Given the description of an element on the screen output the (x, y) to click on. 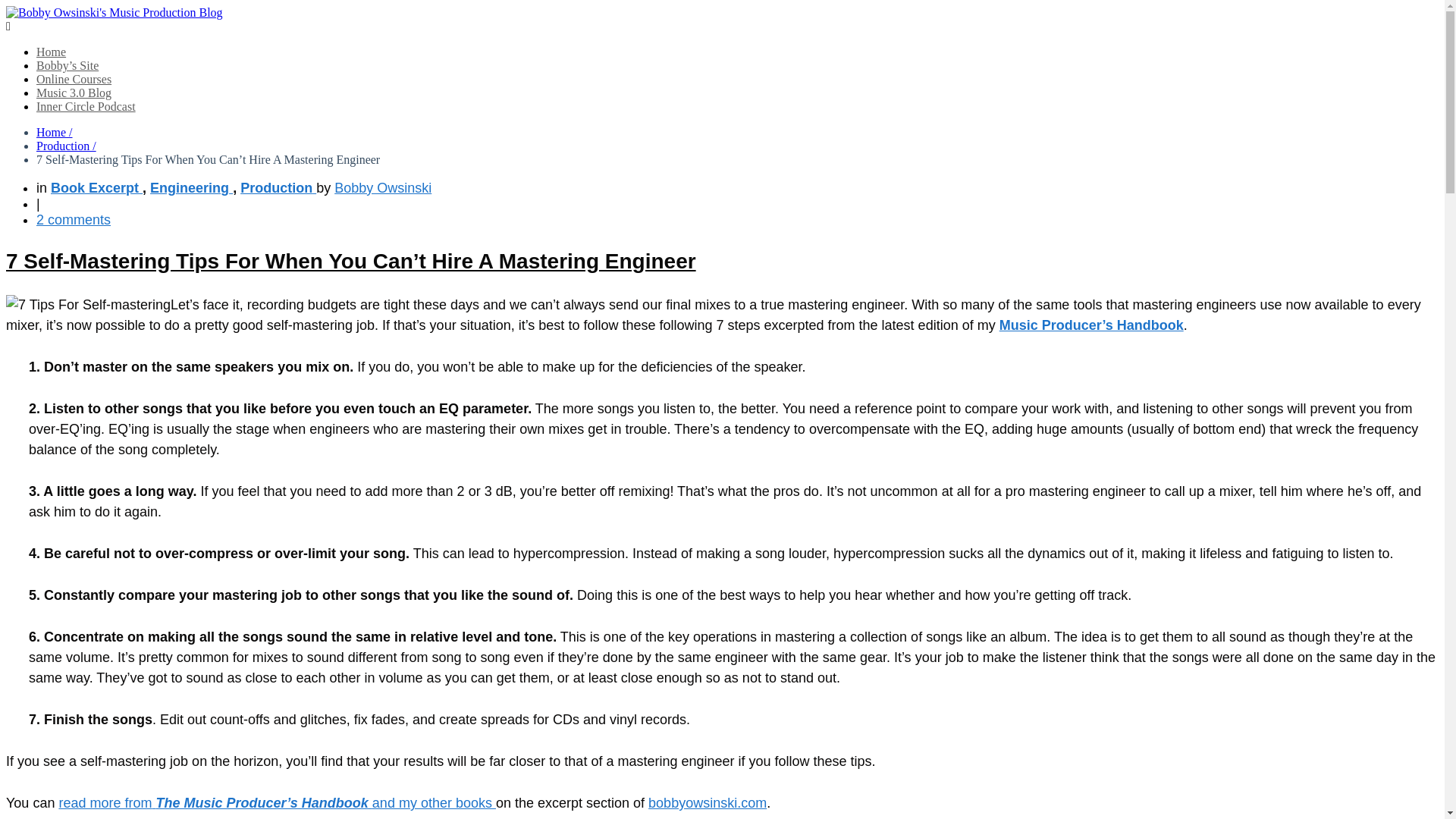
Production (277, 187)
Engineering (190, 187)
2 comments (73, 219)
bobbyowsinski.com (707, 802)
Music 3.0 Blog (74, 92)
Home (50, 51)
Bobby Owsinski (382, 187)
Book Excerpt (96, 187)
Online Courses (74, 78)
Inner Circle Podcast (85, 106)
